Given the description of an element on the screen output the (x, y) to click on. 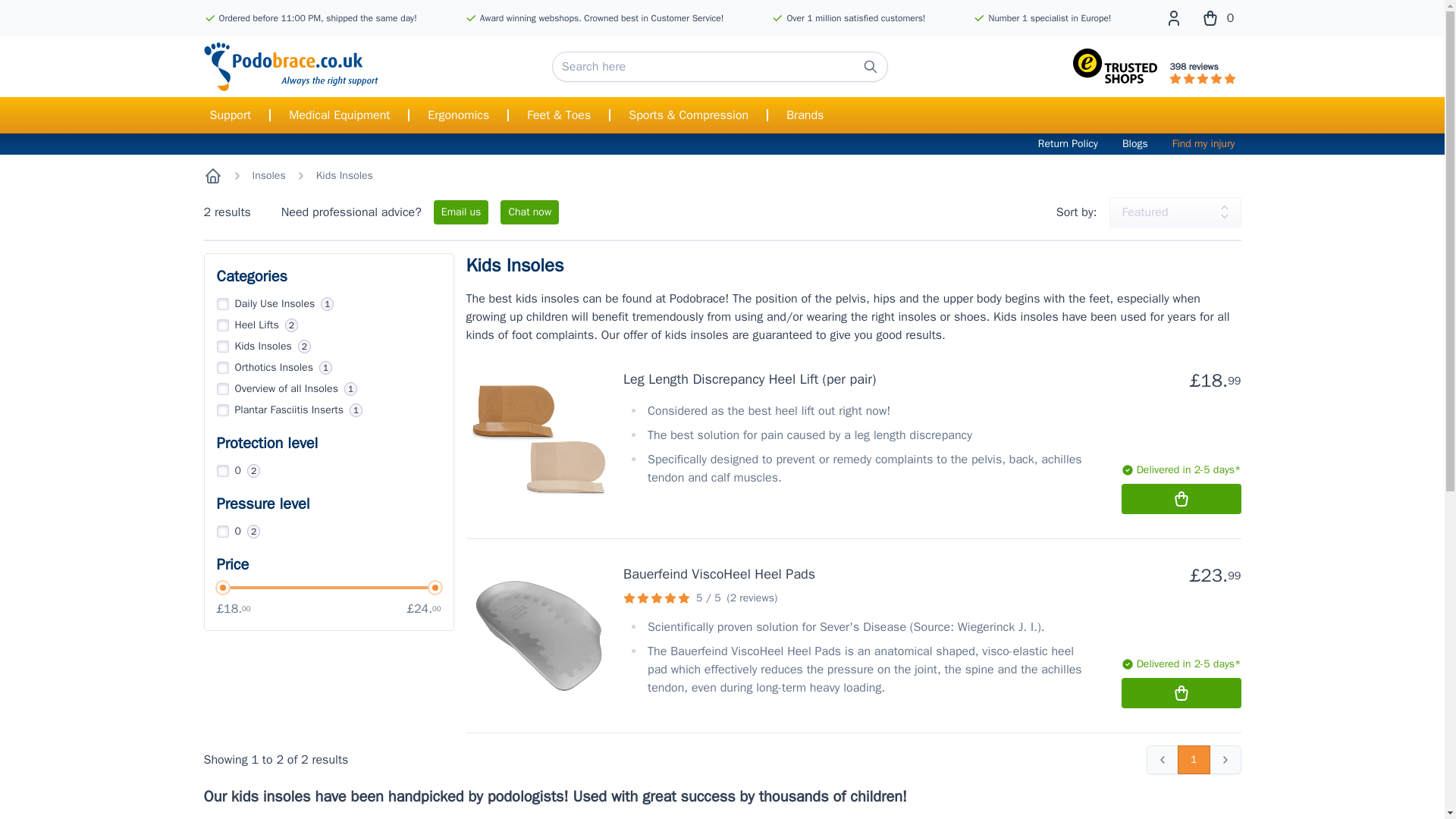
Return Policy (1067, 143)
Brands (804, 115)
0 (1217, 17)
1 (1193, 759)
Email us (461, 211)
Support (230, 115)
Ergonomics (458, 115)
Blogs (1135, 143)
398 reviews (1154, 66)
Previous (1162, 759)
Overview of all Insoles (222, 388)
Orthotics Insoles (222, 367)
0 (222, 531)
Find my injury (1203, 143)
Next (1224, 759)
